Given the description of an element on the screen output the (x, y) to click on. 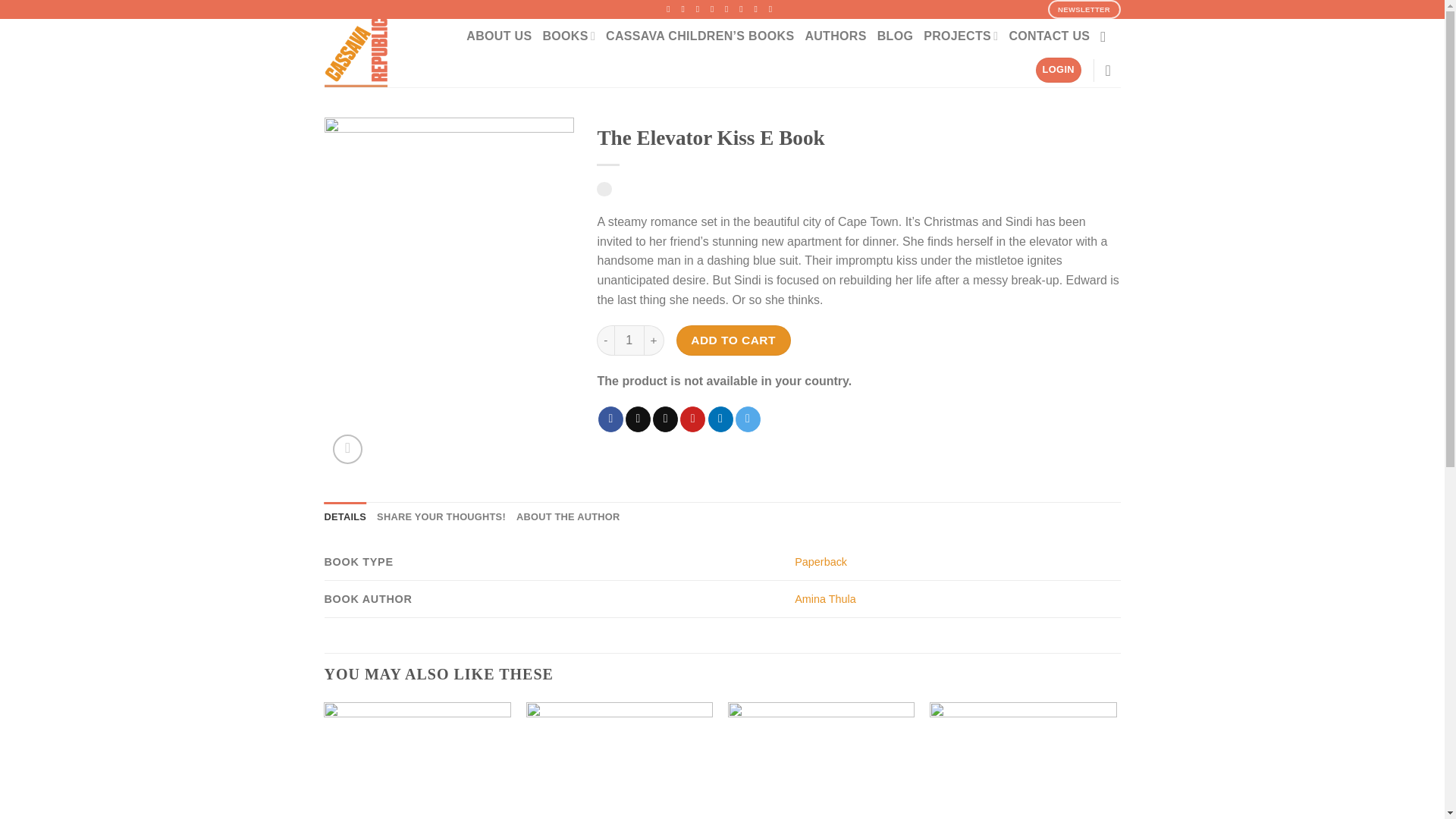
BLOG (895, 36)
1 (629, 340)
NEWSLETTER (1084, 9)
PROJECTS (960, 36)
CONTACT US (1049, 36)
BOOKS (568, 36)
ABOUT US (498, 36)
AUTHORS (835, 36)
